Given the description of an element on the screen output the (x, y) to click on. 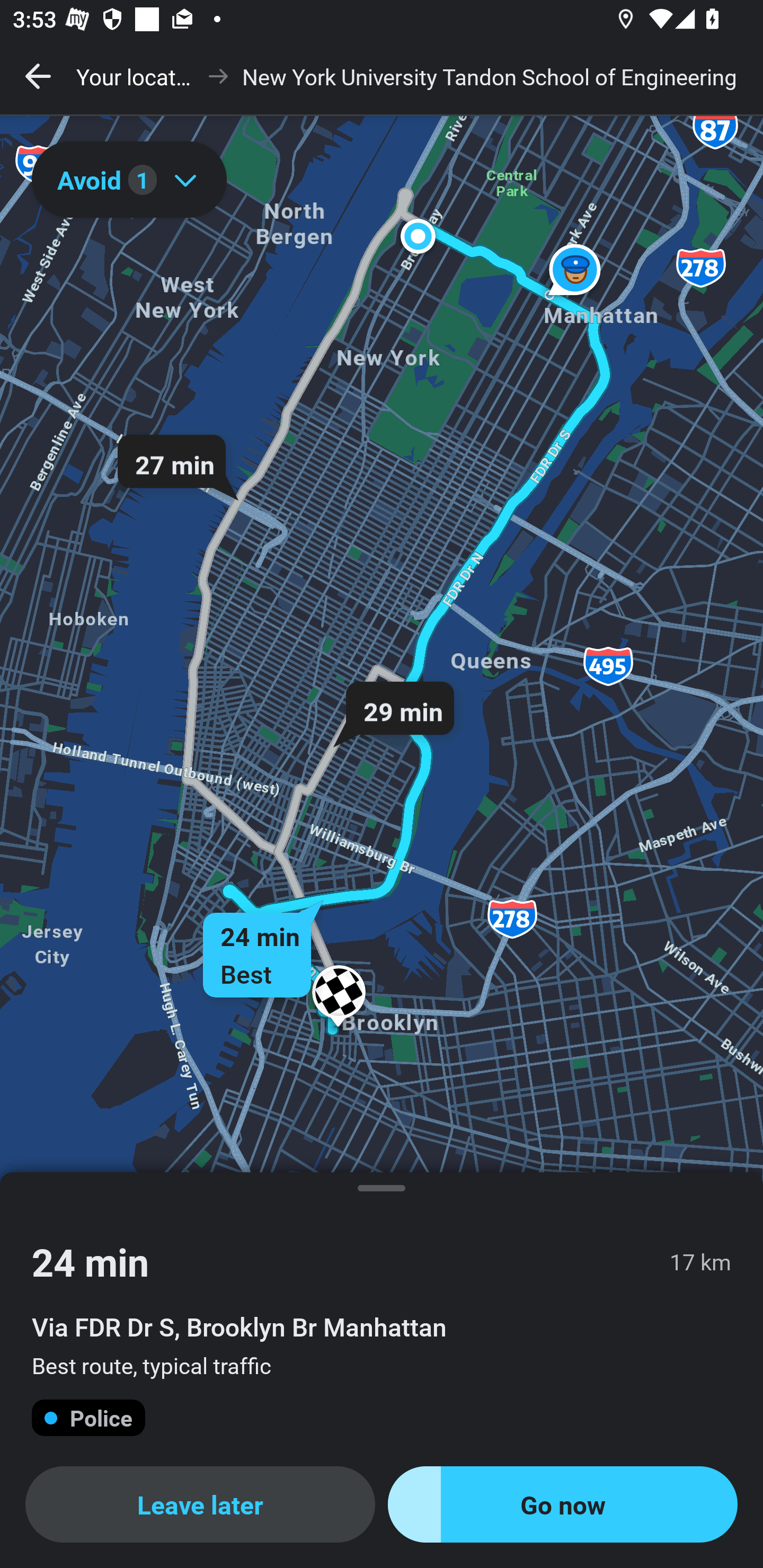
Leave later (200, 1504)
Go now (562, 1504)
